Given the description of an element on the screen output the (x, y) to click on. 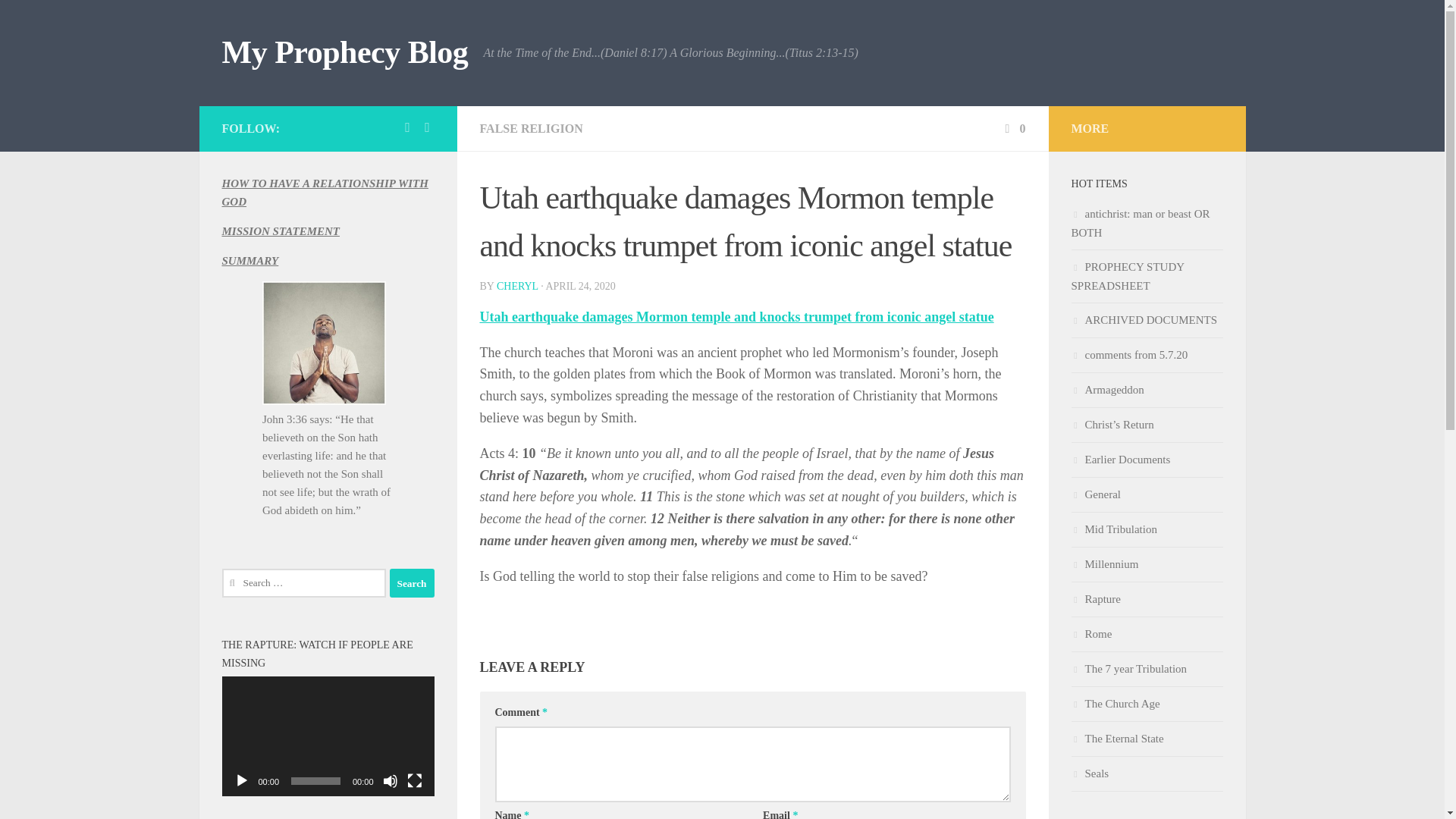
Fullscreen (414, 780)
Search (411, 582)
General (1146, 494)
The Church Age (1146, 704)
comments from 5.7.20 (1146, 355)
Millennium (1146, 564)
Mid Tribulation (1146, 529)
Posts by Cheryl (517, 285)
Play (240, 780)
